Given the description of an element on the screen output the (x, y) to click on. 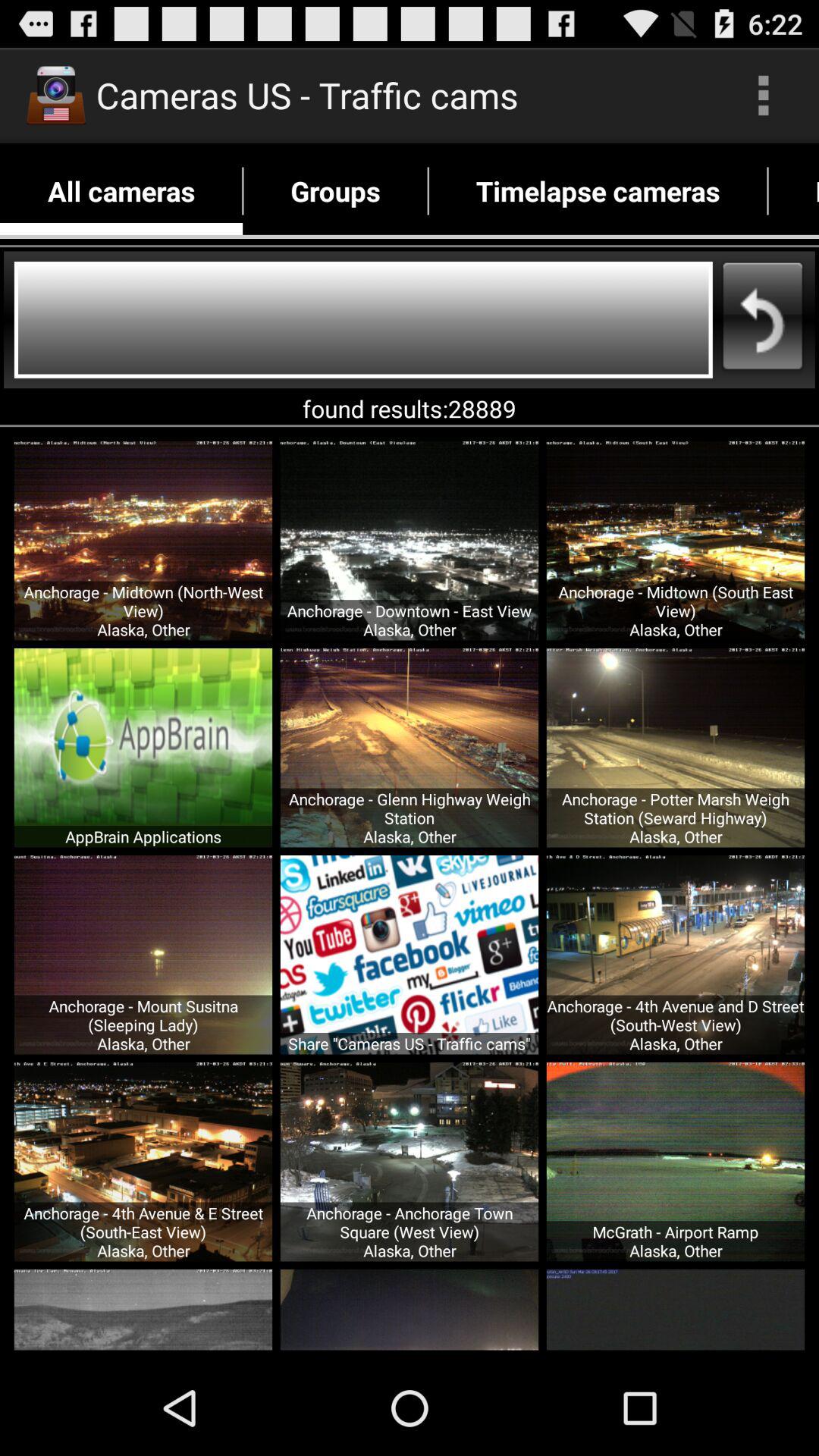
select app next to the groups (121, 190)
